Given the description of an element on the screen output the (x, y) to click on. 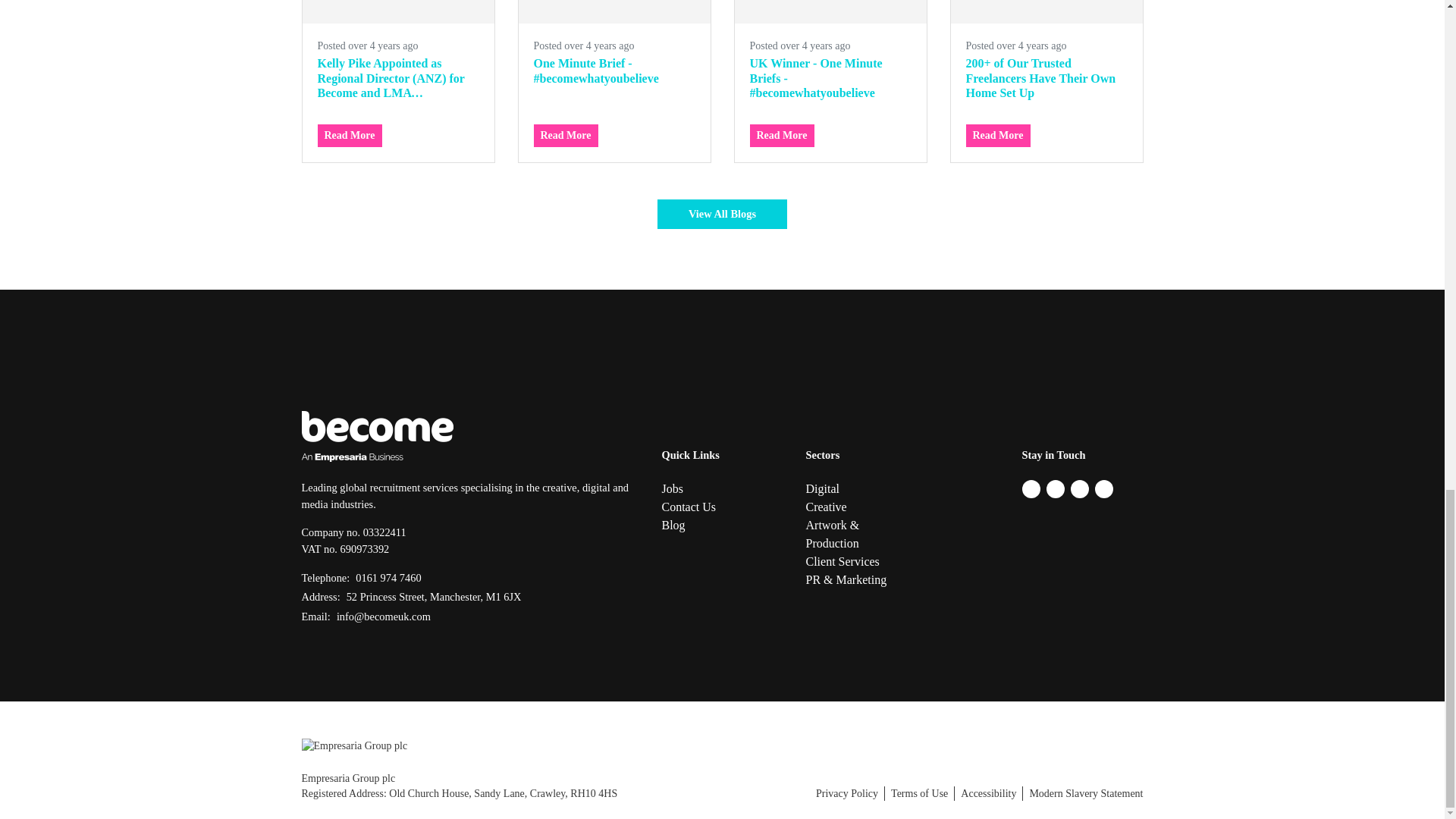
Read More (998, 135)
View All Blogs (722, 214)
Digital (848, 488)
Blog (722, 525)
Read More (349, 135)
Read More (566, 135)
Contact Us (722, 506)
Jobs (722, 488)
Read More (781, 135)
